Given the description of an element on the screen output the (x, y) to click on. 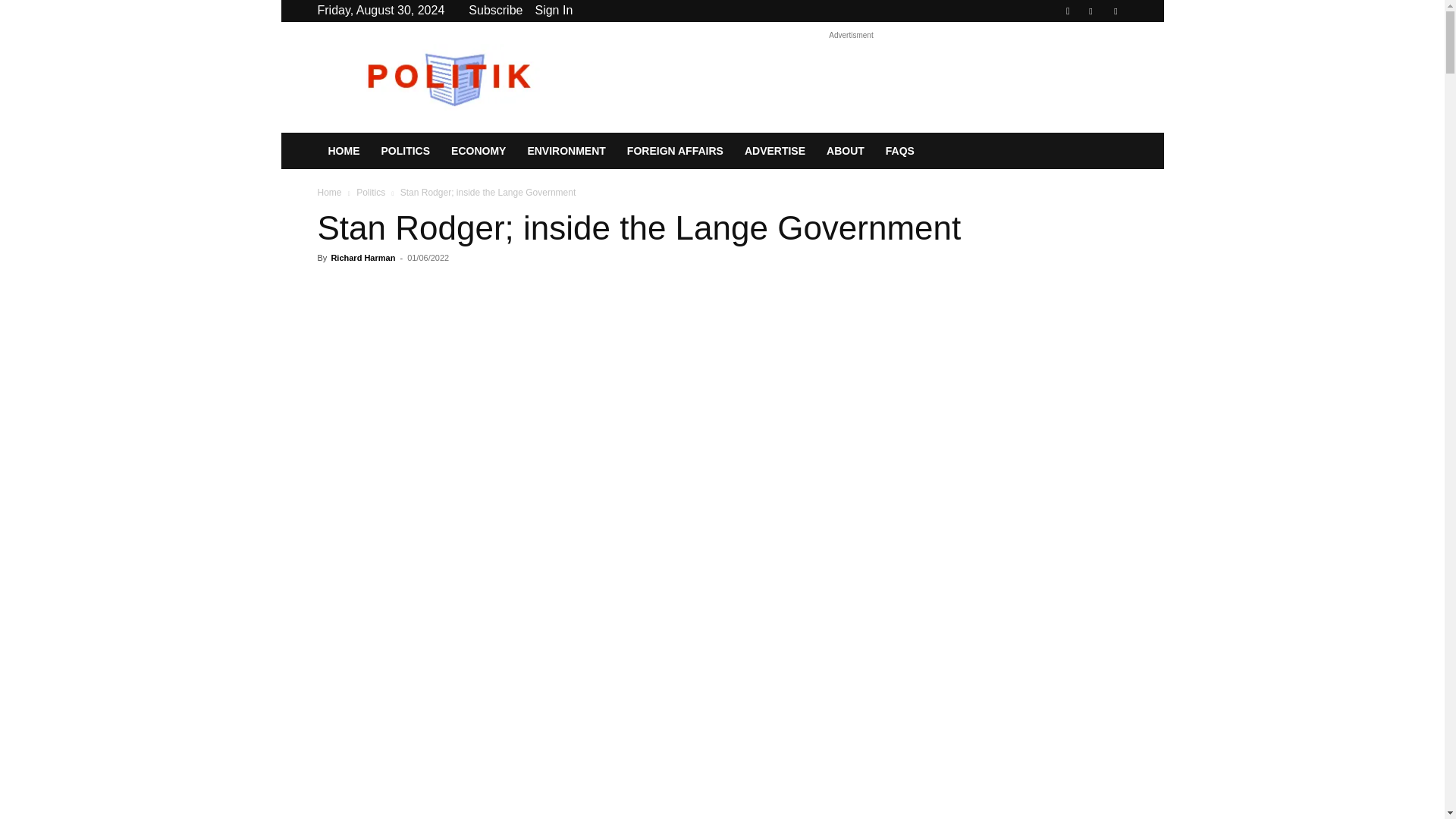
HOME (343, 150)
FOREIGN AFFAIRS (674, 150)
ABOUT (845, 150)
Home (328, 192)
Twitter (1114, 10)
Sign In (553, 10)
Subscribe (495, 10)
Facebook (1090, 10)
POLITICS (405, 150)
ECONOMY (478, 150)
